Given the description of an element on the screen output the (x, y) to click on. 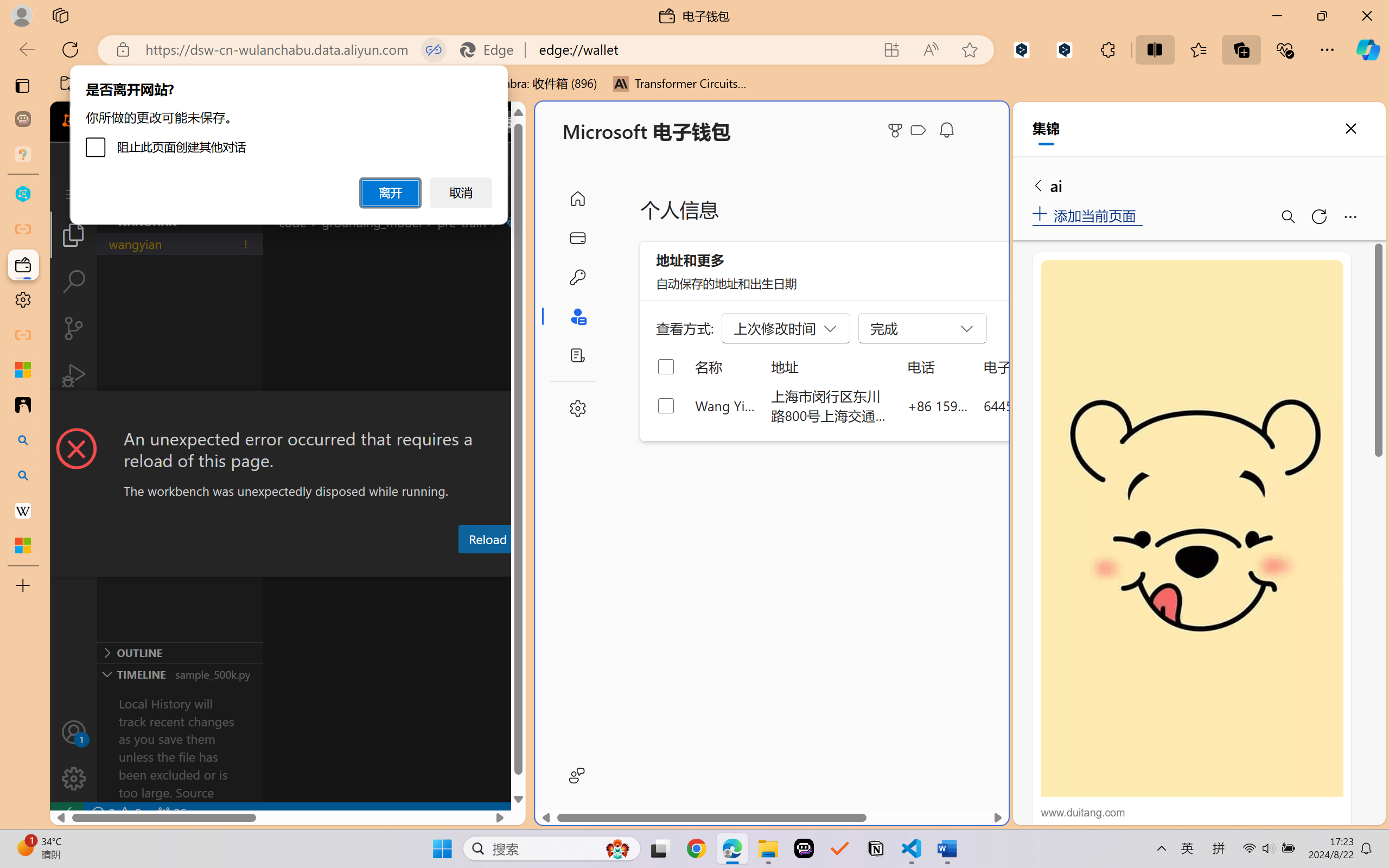
Output (Ctrl+Shift+U) (377, 565)
Outline Section (179, 652)
Transformer Circuits Thread (680, 83)
Google Chrome (696, 848)
Reload (486, 538)
